Given the description of an element on the screen output the (x, y) to click on. 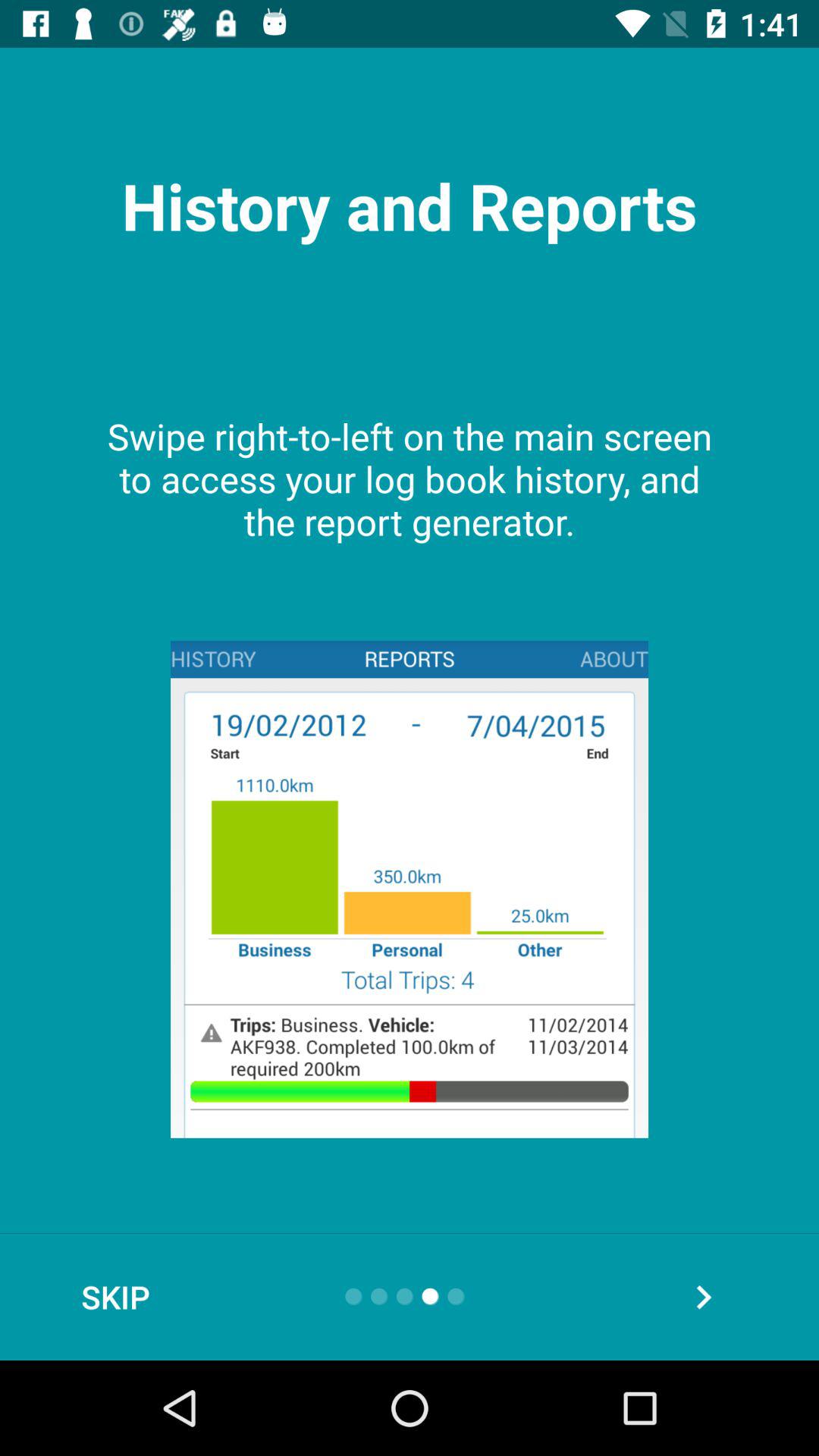
switch autoplay option (703, 1296)
